Given the description of an element on the screen output the (x, y) to click on. 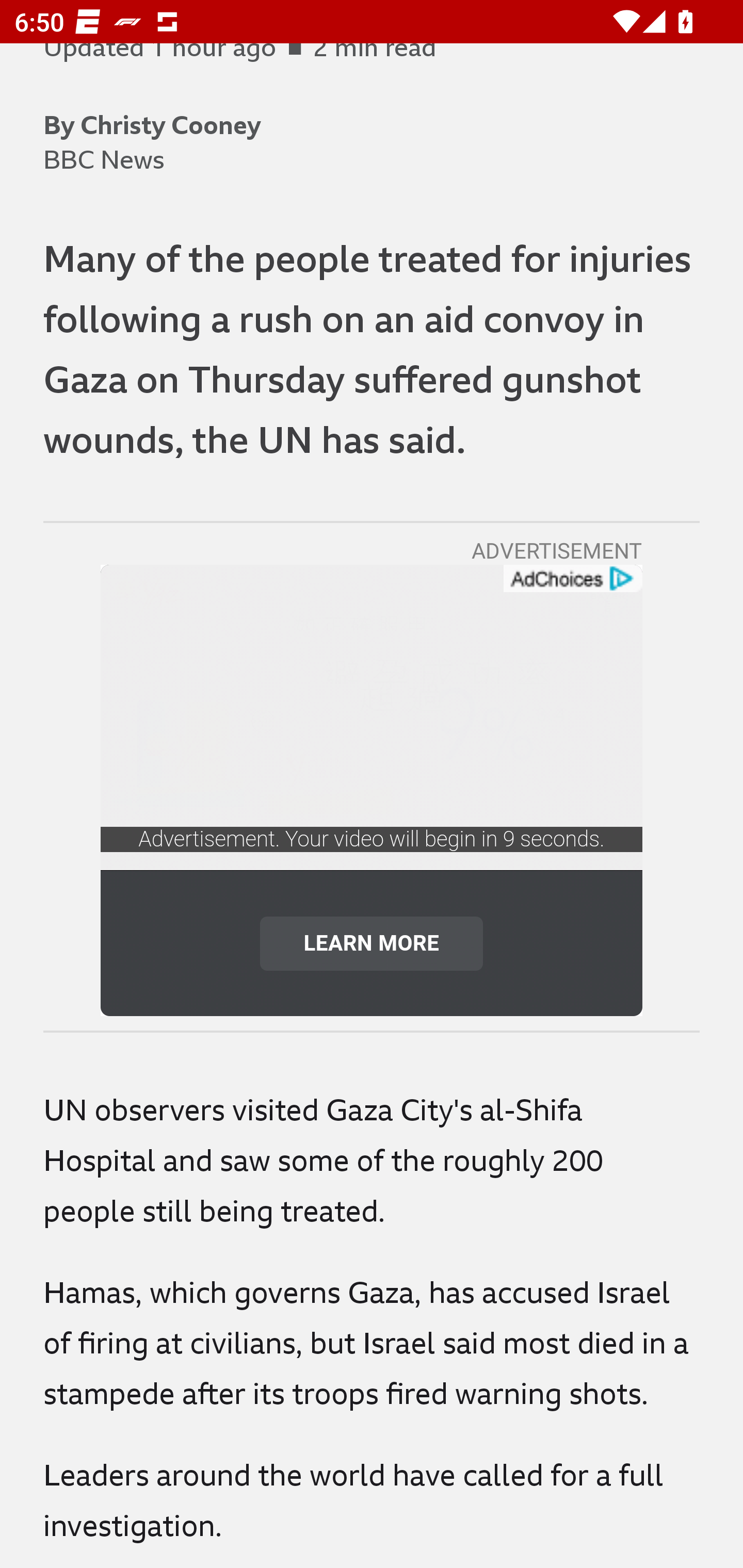
get?name=admarker-full-tl (571, 579)
LEARN MORE (371, 943)
